Given the description of an element on the screen output the (x, y) to click on. 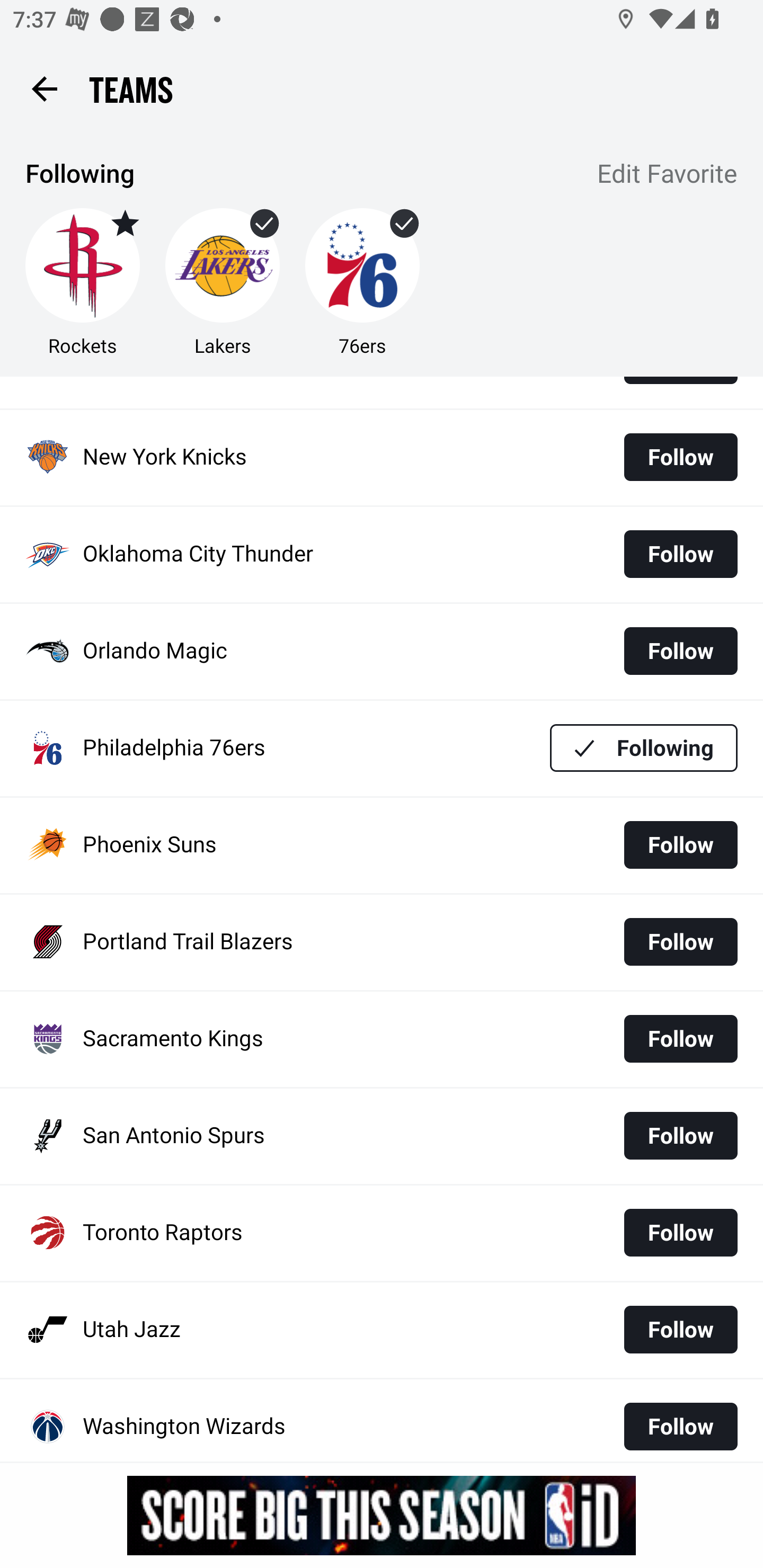
Back button (44, 88)
Edit Favorite (667, 175)
New York Knicks Follow (381, 456)
Follow (680, 456)
Oklahoma City Thunder Follow (381, 554)
Follow (680, 553)
Orlando Magic Follow (381, 651)
Follow (680, 651)
Philadelphia 76ers Following (381, 748)
Following (643, 747)
Phoenix Suns Follow (381, 845)
Follow (680, 844)
Portland Trail Blazers Follow (381, 942)
Follow (680, 941)
Sacramento Kings Follow (381, 1038)
Follow (680, 1038)
San Antonio Spurs Follow (381, 1135)
Follow (680, 1135)
Toronto Raptors Follow (381, 1233)
Follow (680, 1232)
Utah Jazz Follow (381, 1330)
Follow (680, 1329)
Washington Wizards Follow (381, 1420)
Follow (680, 1424)
g5nqqygr7owph (381, 1515)
